Given the description of an element on the screen output the (x, y) to click on. 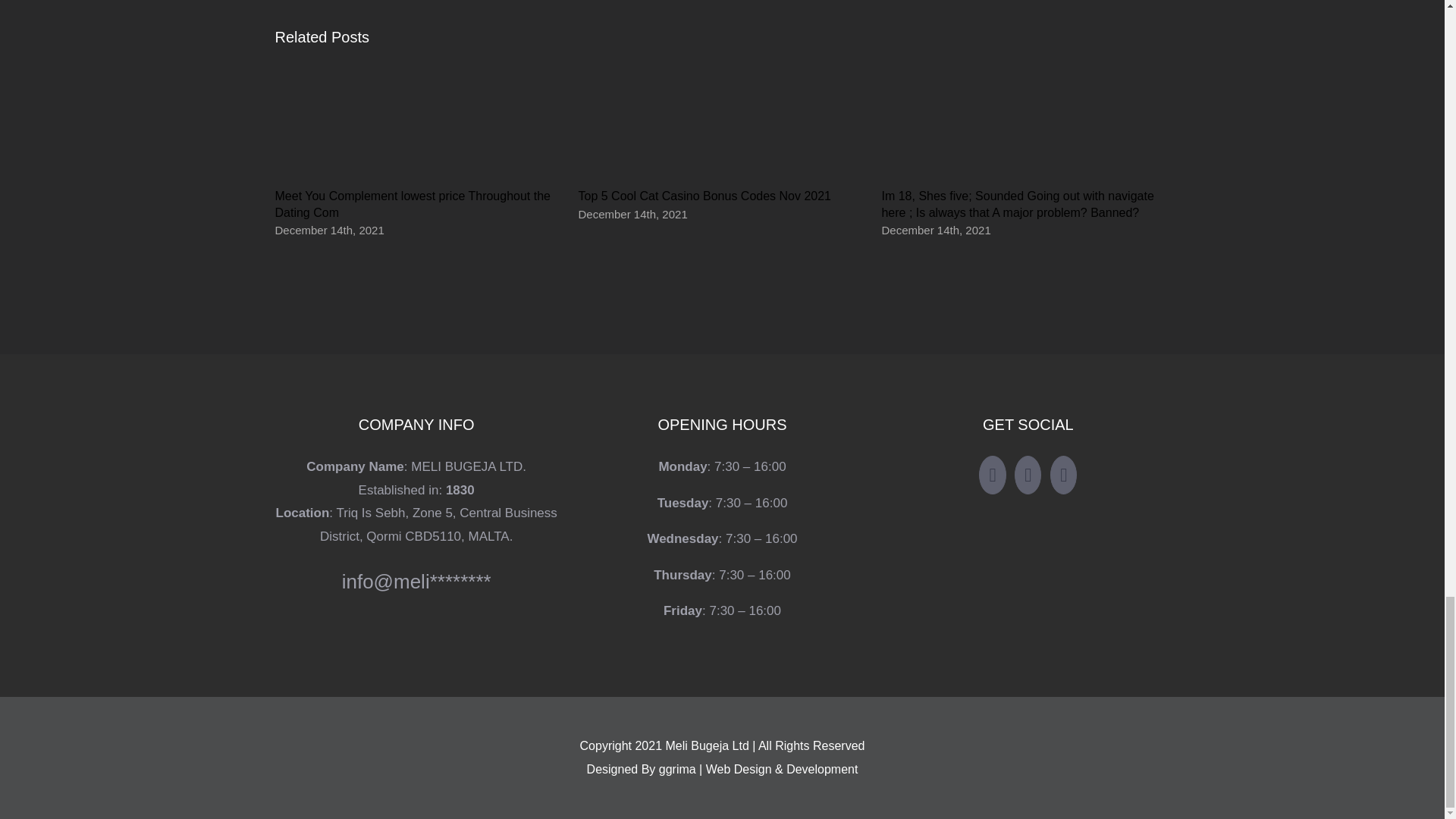
Meet You Complement lowest price Throughout the Dating Com (412, 204)
Top 5 Cool Cat Casino Bonus Codes Nov 2021 (704, 195)
